Given the description of an element on the screen output the (x, y) to click on. 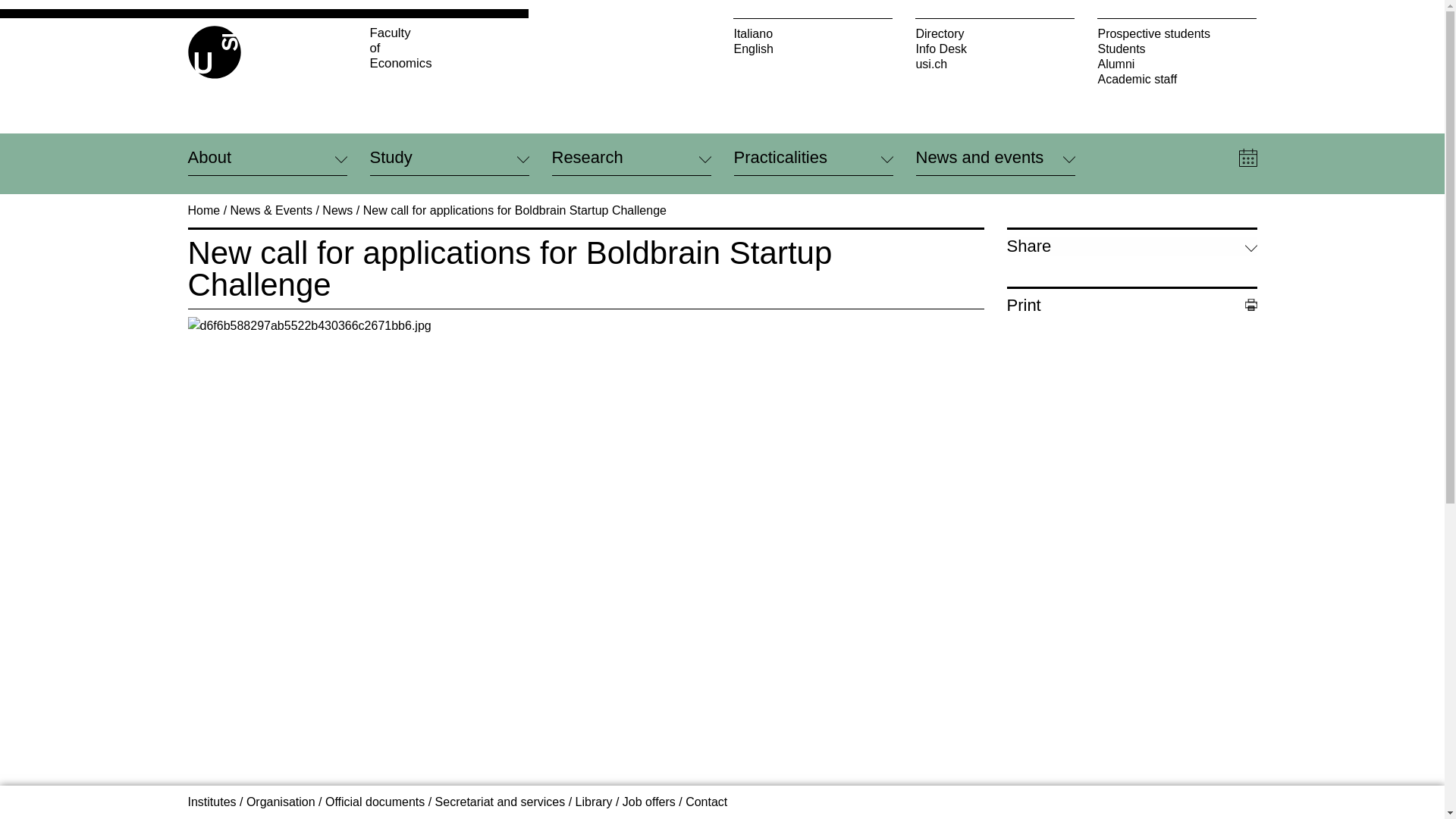
Academic staff (1176, 79)
Prospective students (1176, 33)
Students (1176, 48)
English (812, 48)
Directory (994, 33)
Info Desk (994, 48)
Italiano (812, 33)
usi.ch (994, 64)
Alumni (448, 48)
